Given the description of an element on the screen output the (x, y) to click on. 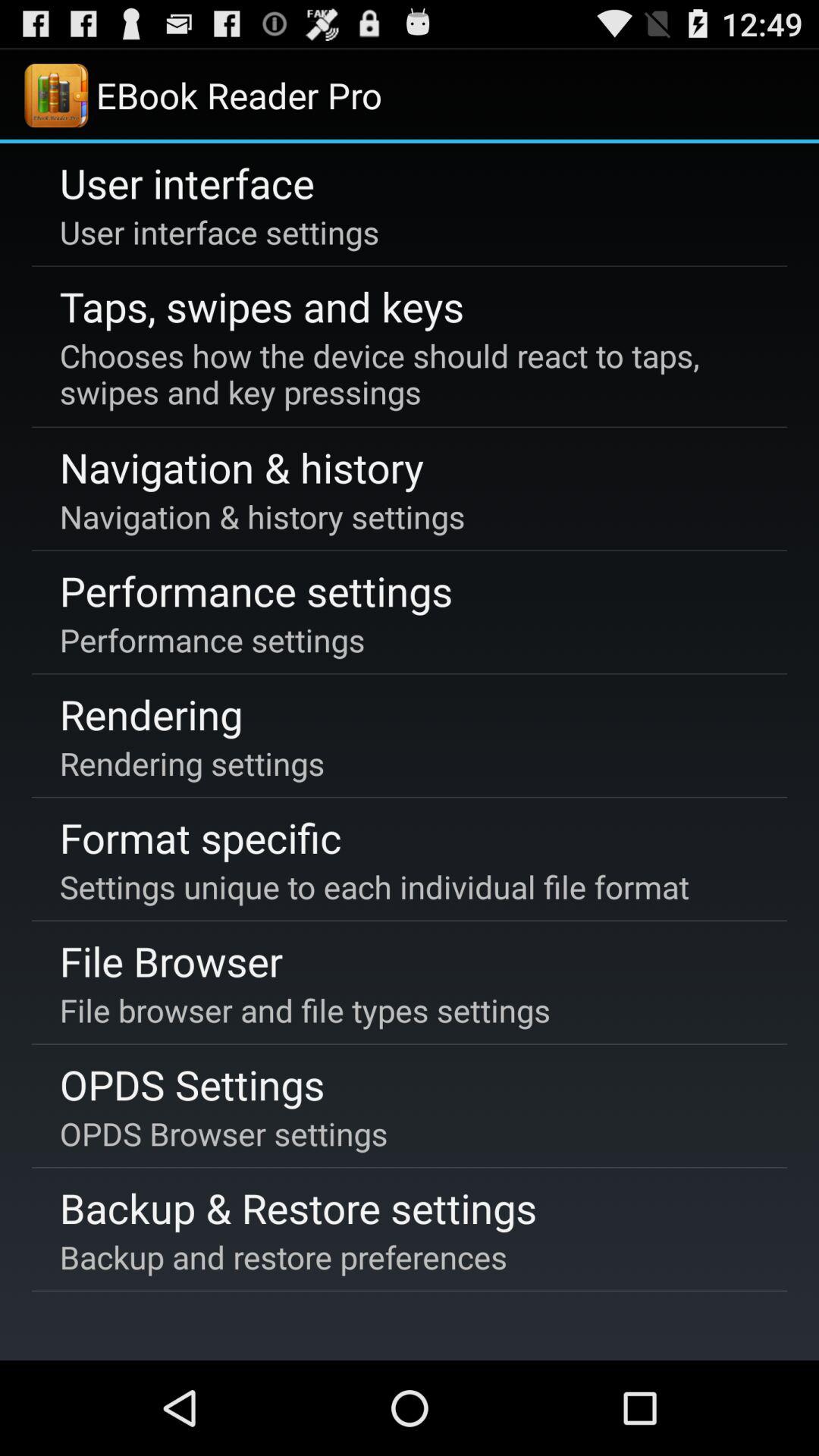
flip to settings unique to app (374, 886)
